Given the description of an element on the screen output the (x, y) to click on. 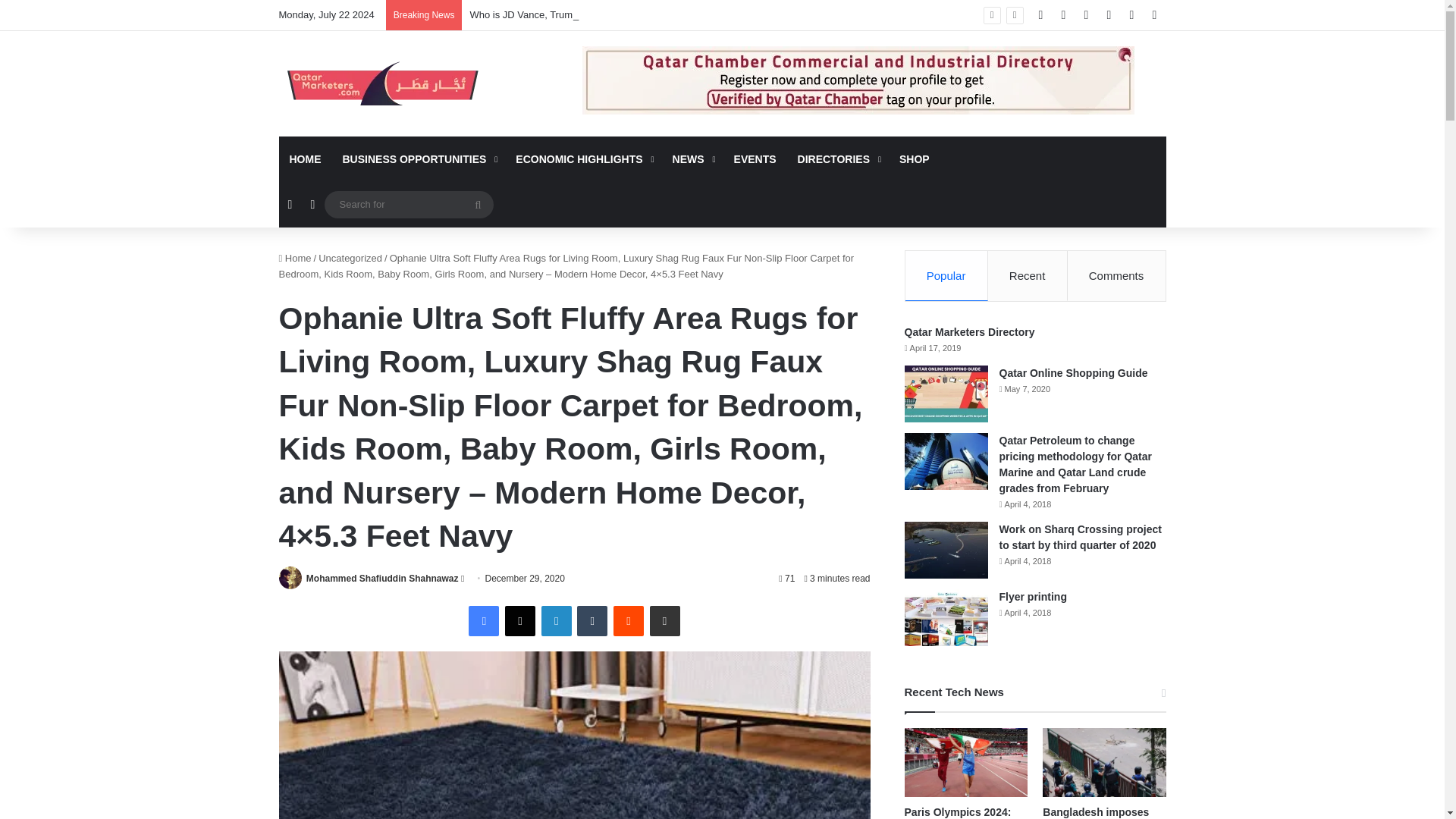
Facebook (483, 621)
ECONOMIC HIGHLIGHTS (583, 158)
Reddit (627, 621)
SHOP (914, 158)
Search for (478, 204)
HOME (305, 158)
X (520, 621)
Share via Email (664, 621)
Mohammed Shafiuddin Shahnawaz (381, 578)
LinkedIn (556, 621)
NEWS (692, 158)
EVENTS (755, 158)
Qatar Marketers (381, 83)
Search for (408, 203)
DIRECTORIES (837, 158)
